Given the description of an element on the screen output the (x, y) to click on. 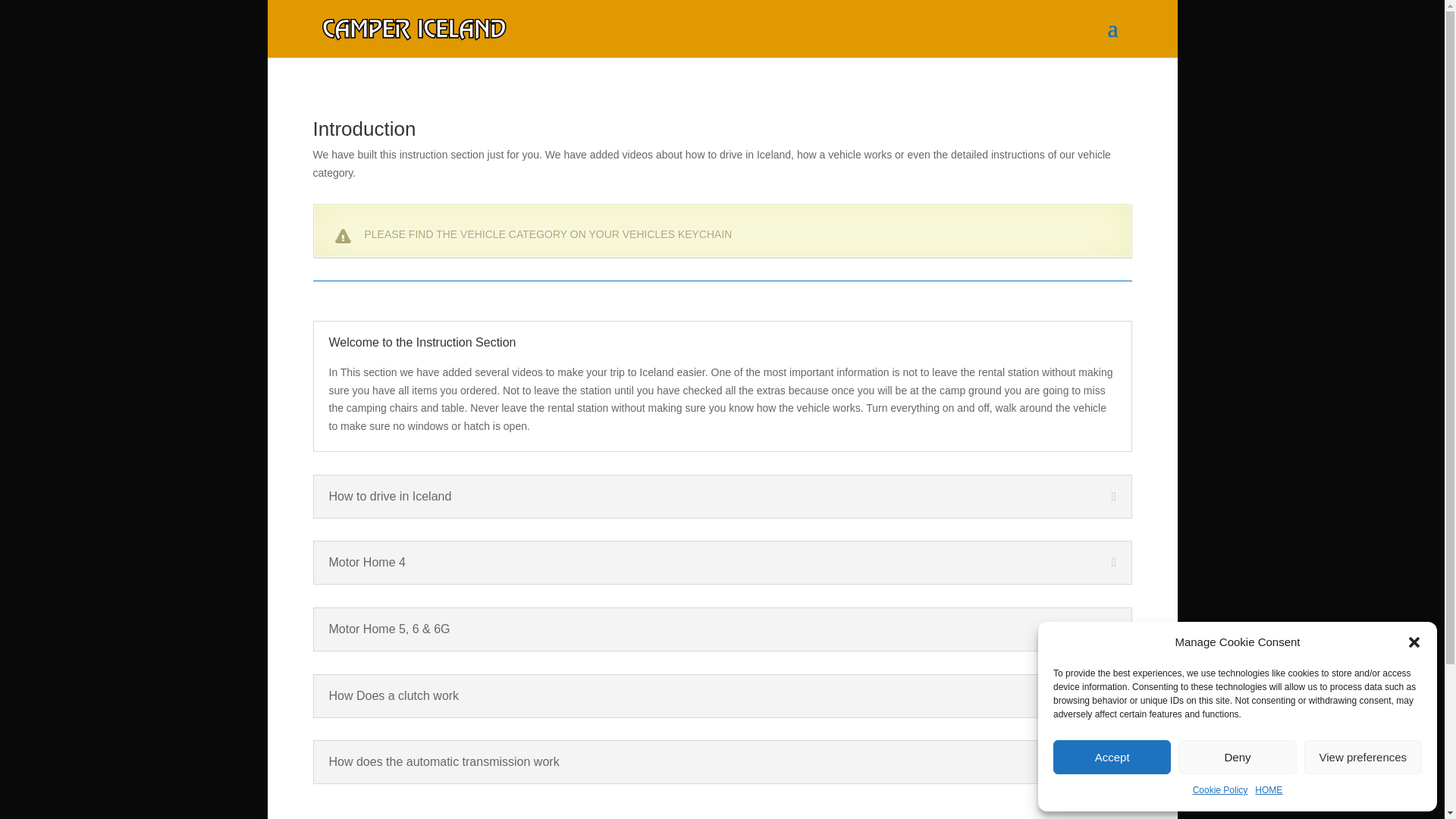
Accept (1111, 756)
HOME (1268, 791)
Cookie Policy (1219, 791)
Deny (1236, 756)
View preferences (1363, 756)
